Given the description of an element on the screen output the (x, y) to click on. 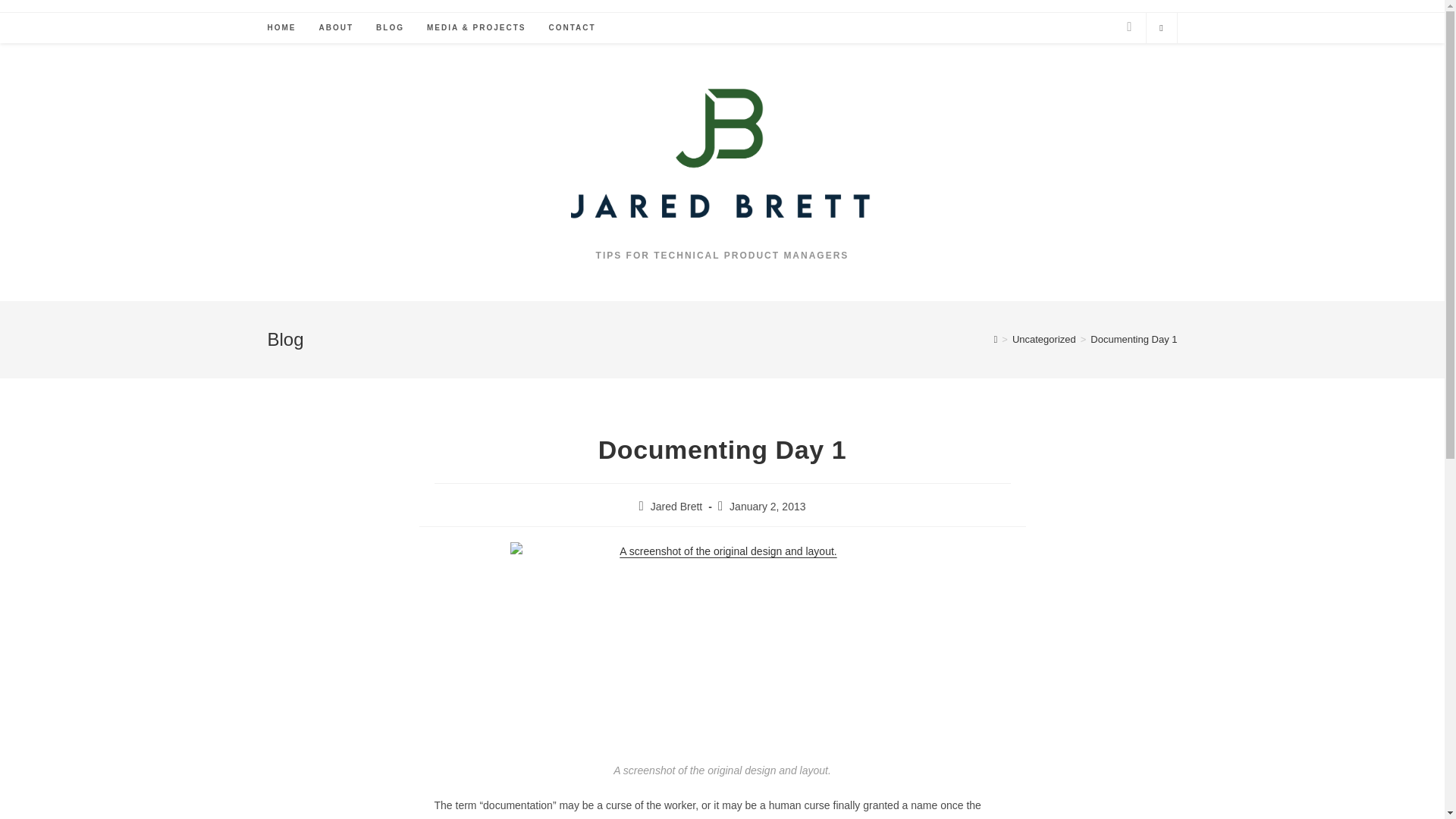
HOME (281, 28)
Uncategorized (1043, 338)
ABOUT (336, 28)
Documenting Day 1 (1133, 338)
Posts by Jared Brett (675, 506)
CONTACT (572, 28)
BLOG (389, 28)
Jared Brett (675, 506)
